Given the description of an element on the screen output the (x, y) to click on. 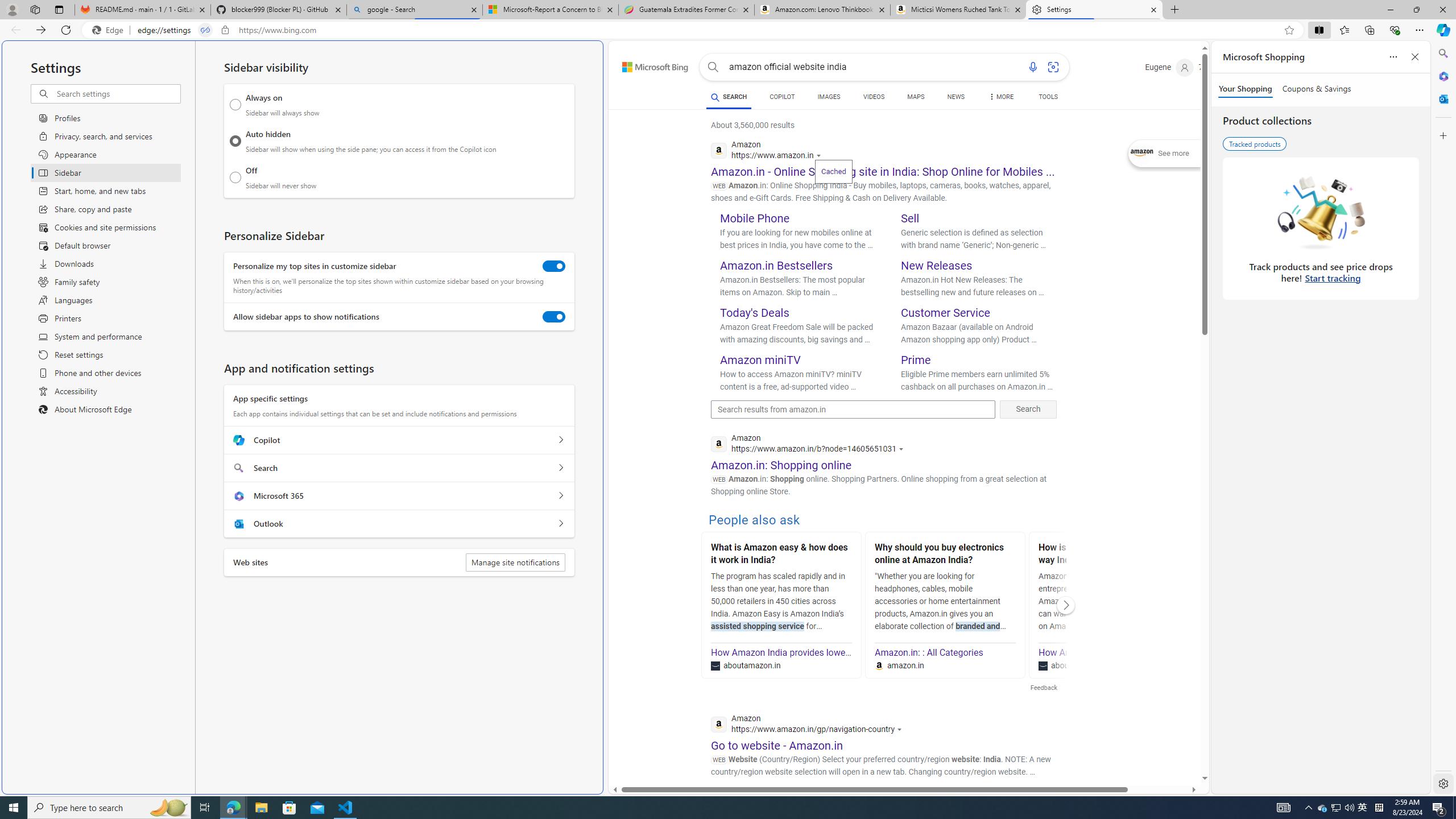
Search using an image (1052, 66)
What is Amazon easy & how does it work in India? (780, 555)
NEWS (955, 96)
Off Sidebar will never show (235, 177)
